Given the description of an element on the screen output the (x, y) to click on. 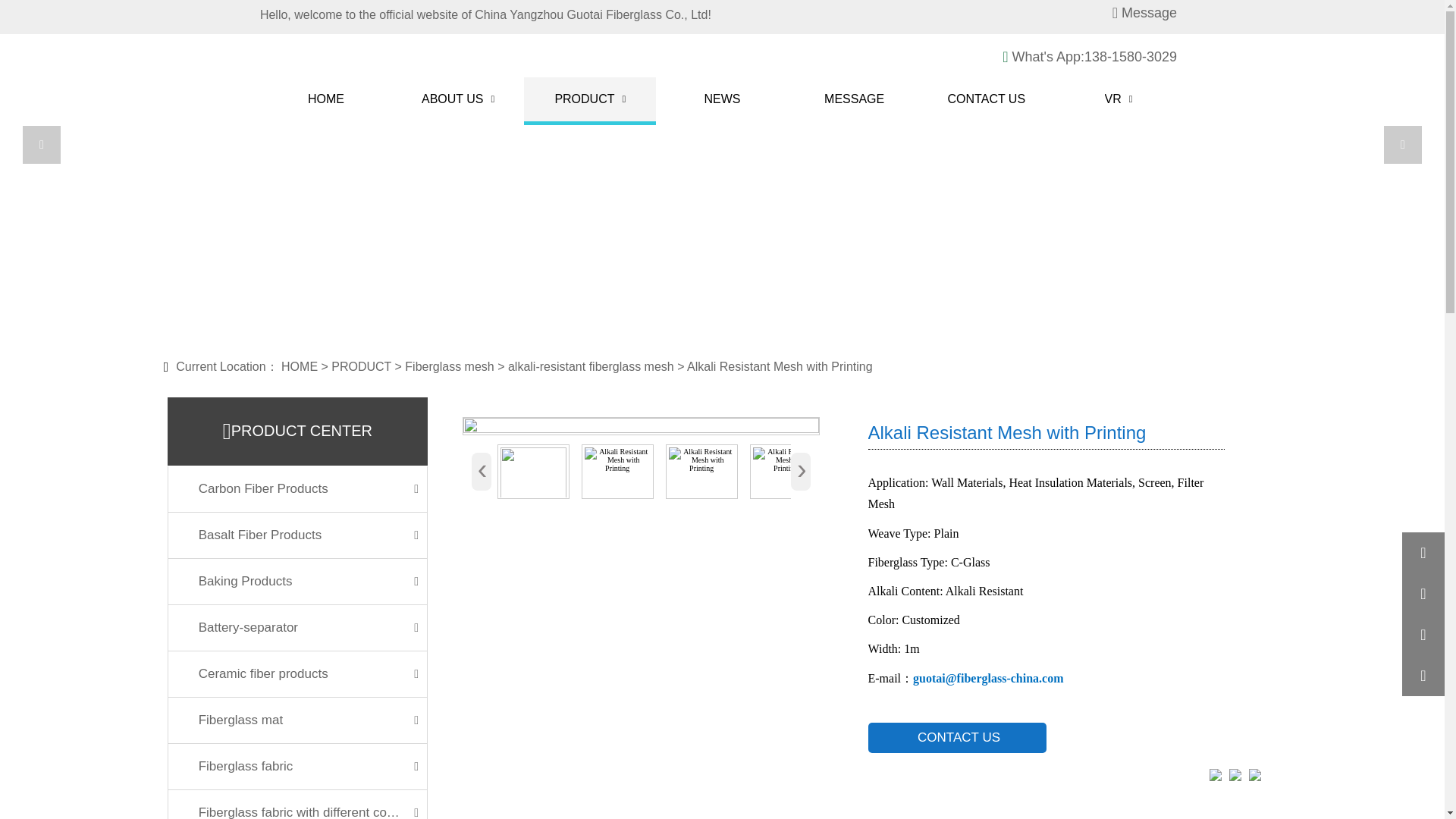
HOME (325, 99)
Alkali Resistant Mesh with Printing (786, 472)
Alkali Resistant Mesh with Printing (617, 472)
Alkali Resistant Mesh with Printing (701, 472)
